Given the description of an element on the screen output the (x, y) to click on. 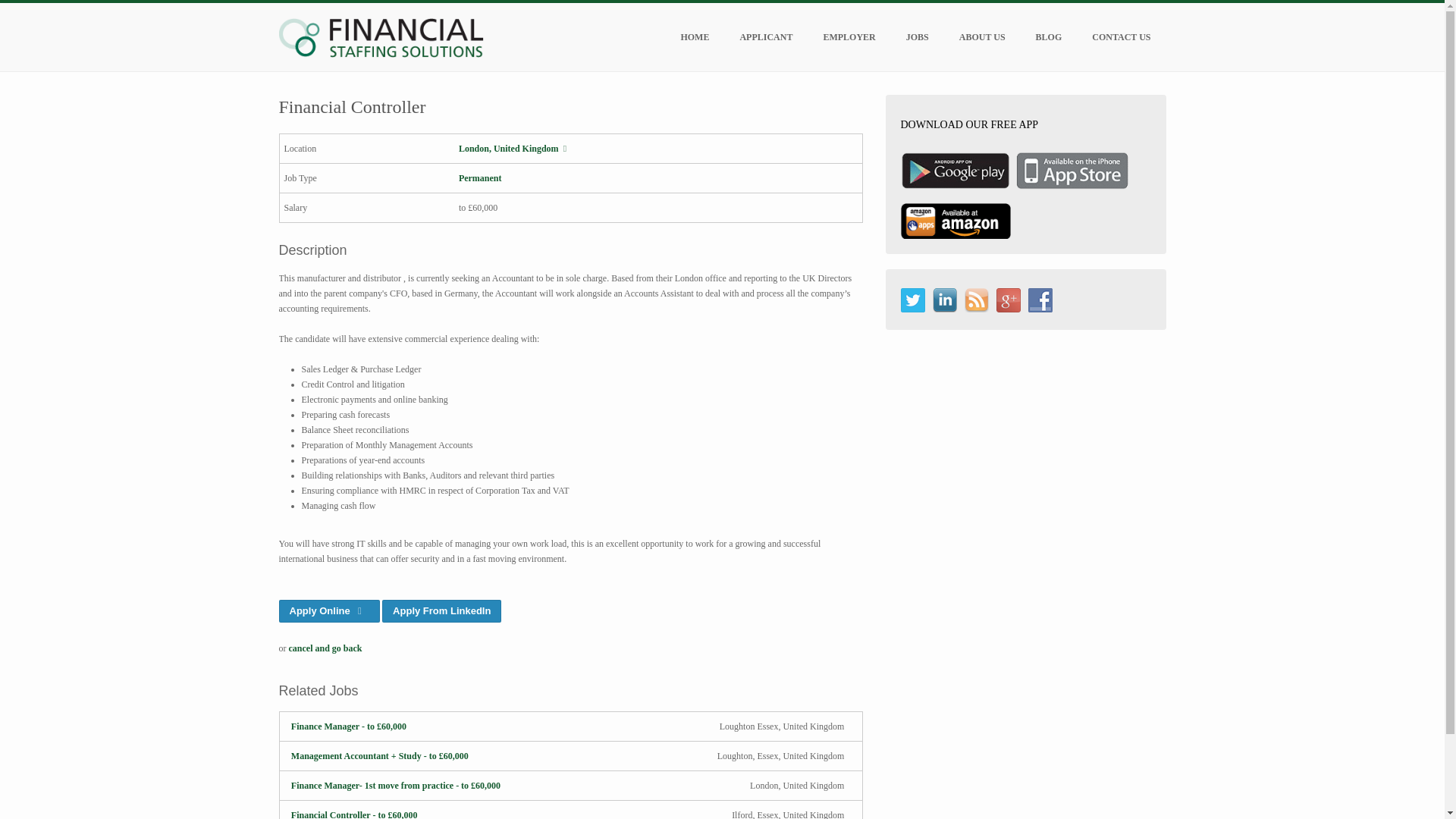
Permanent (480, 177)
cancel and go back (324, 647)
Apply Online   (329, 610)
Follow Us on LinkedIn (944, 300)
ABOUT US (981, 37)
BLOG (1048, 37)
London, United Kingdom (515, 148)
Apply From LinkedIn (440, 610)
JOBS (917, 37)
show on map (515, 148)
EMPLOYER (848, 37)
CONTACT US (1121, 37)
Follow Us on Facebook (1039, 300)
APPLICANT (765, 37)
HOME (694, 37)
